Given the description of an element on the screen output the (x, y) to click on. 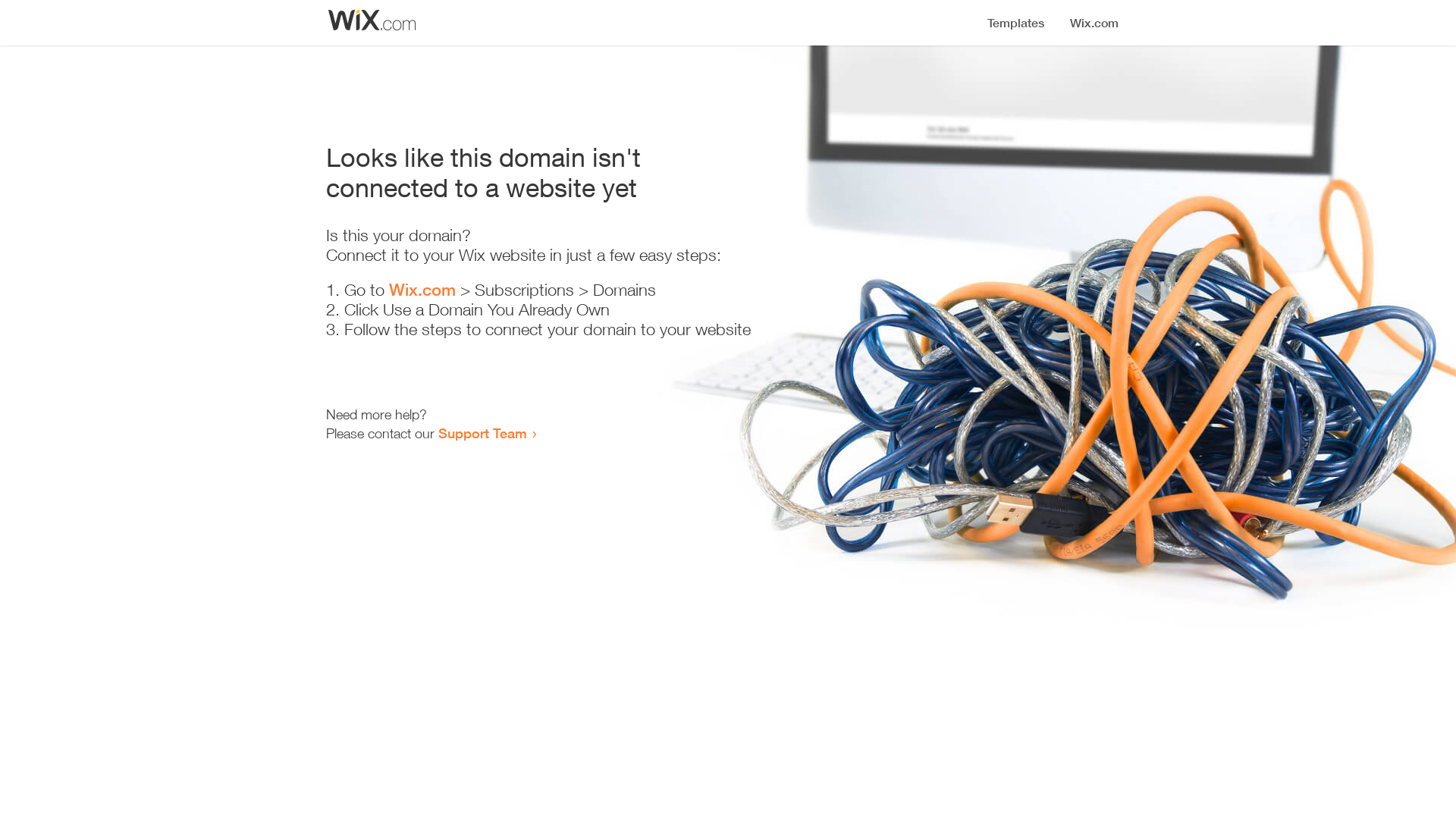
Support Team Element type: text (482, 432)
Wix.com Element type: text (422, 289)
